Given the description of an element on the screen output the (x, y) to click on. 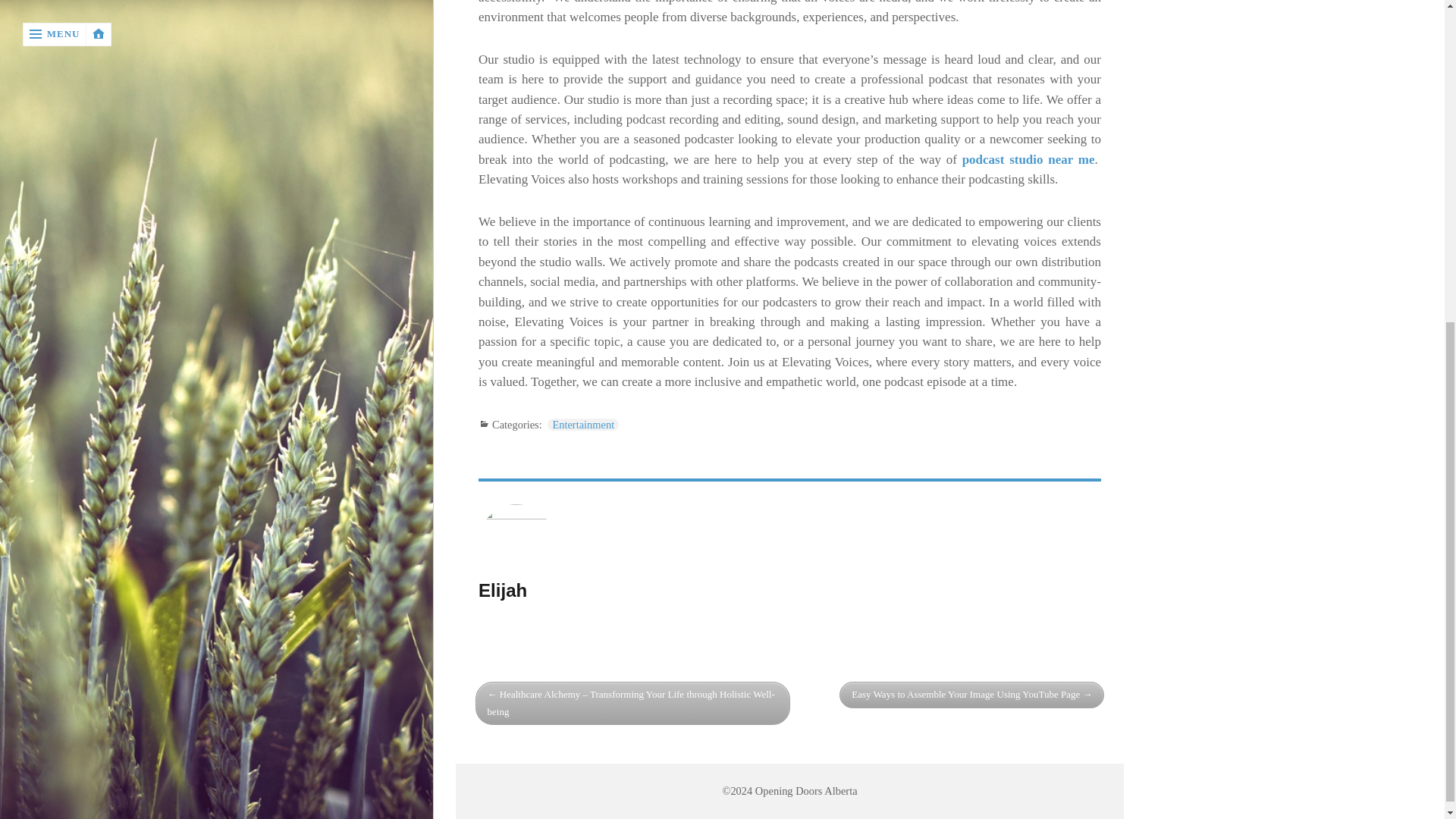
Entertainment (582, 424)
podcast studio near me (1028, 159)
Easy Ways to Assemble Your Image Using YouTube Page (971, 694)
